Given the description of an element on the screen output the (x, y) to click on. 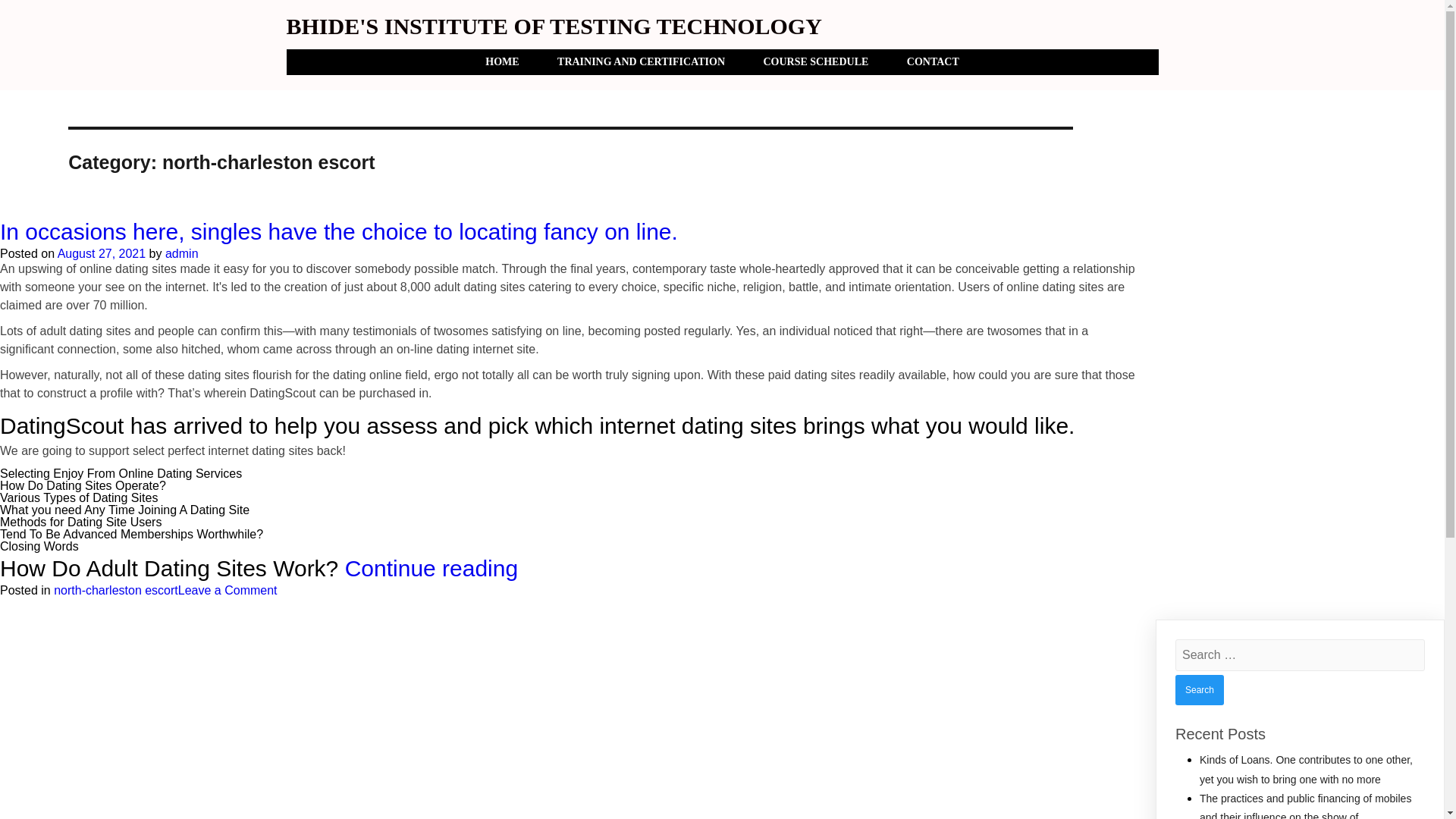
CONTACT (932, 62)
north-charleston escort (115, 590)
Search (1199, 689)
August 27, 2021 (102, 253)
HOME (501, 62)
